Given the description of an element on the screen output the (x, y) to click on. 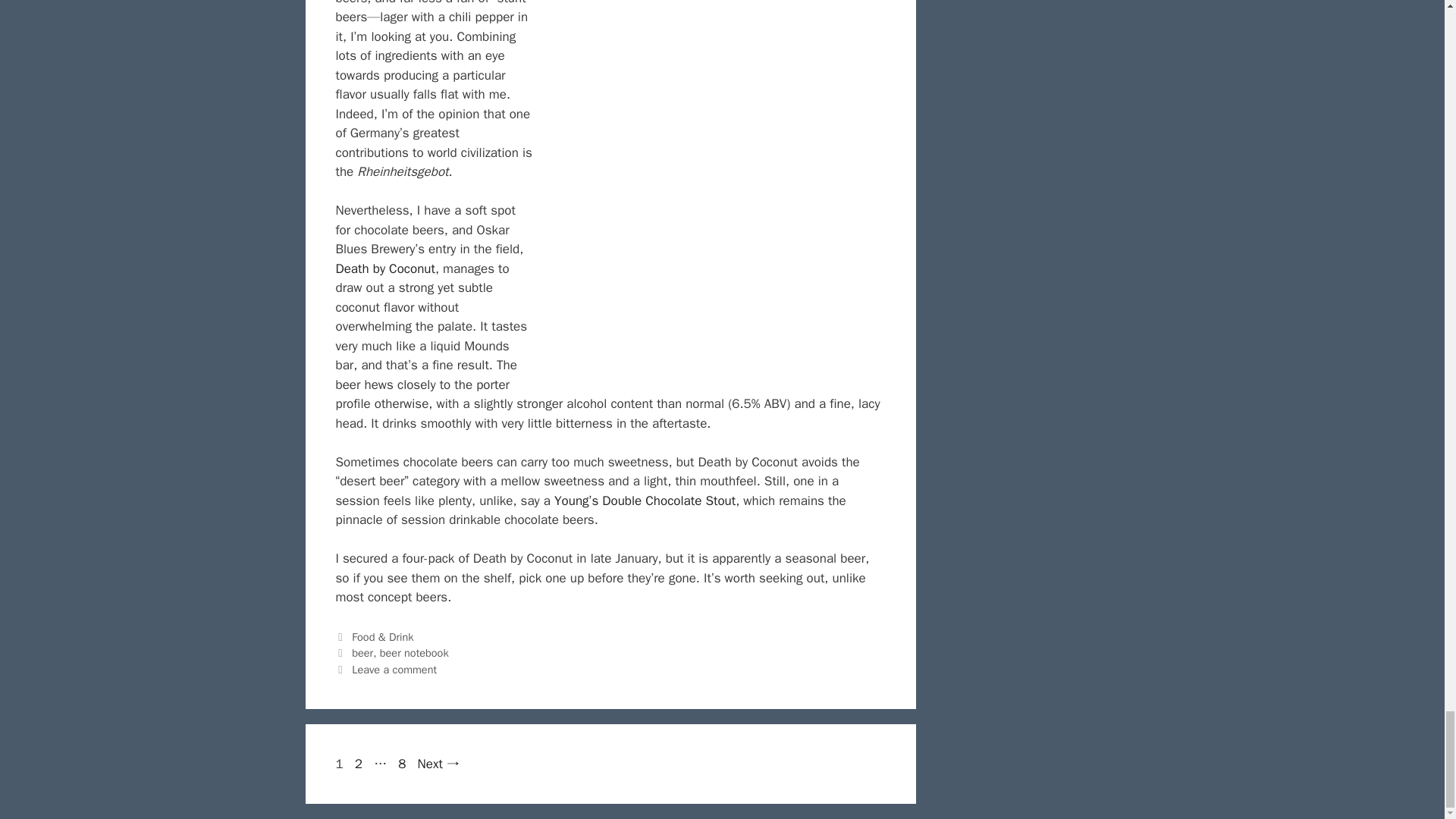
Oskar Blues' Death by Coconut (709, 189)
